Given the description of an element on the screen output the (x, y) to click on. 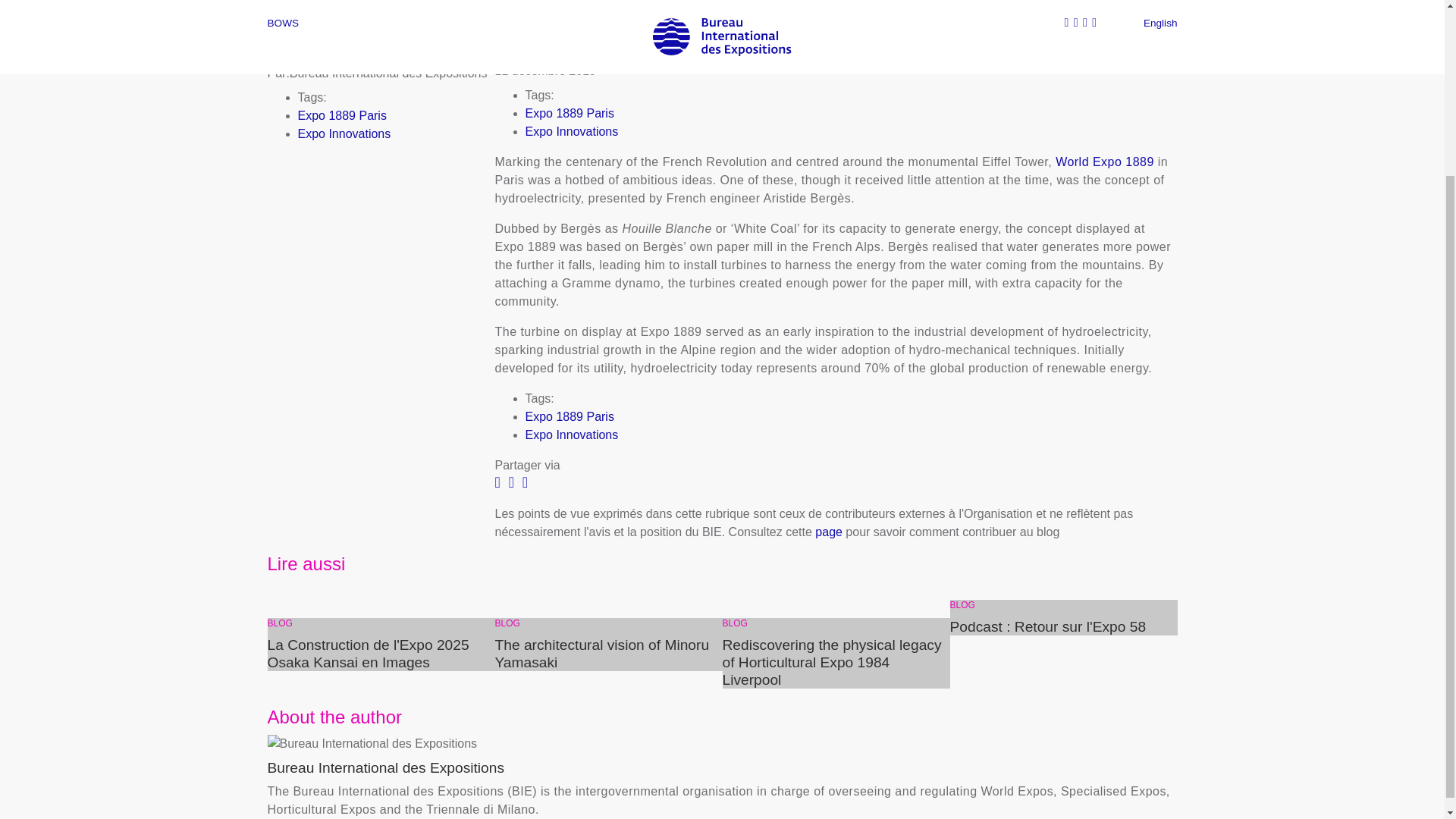
La Construction de l'Expo 2025 Osaka Kansai en Images (380, 653)
The architectural vision of Minoru Yamasaki (608, 653)
Podcast : Retour sur l'Expo 58 (1062, 626)
